Given the description of an element on the screen output the (x, y) to click on. 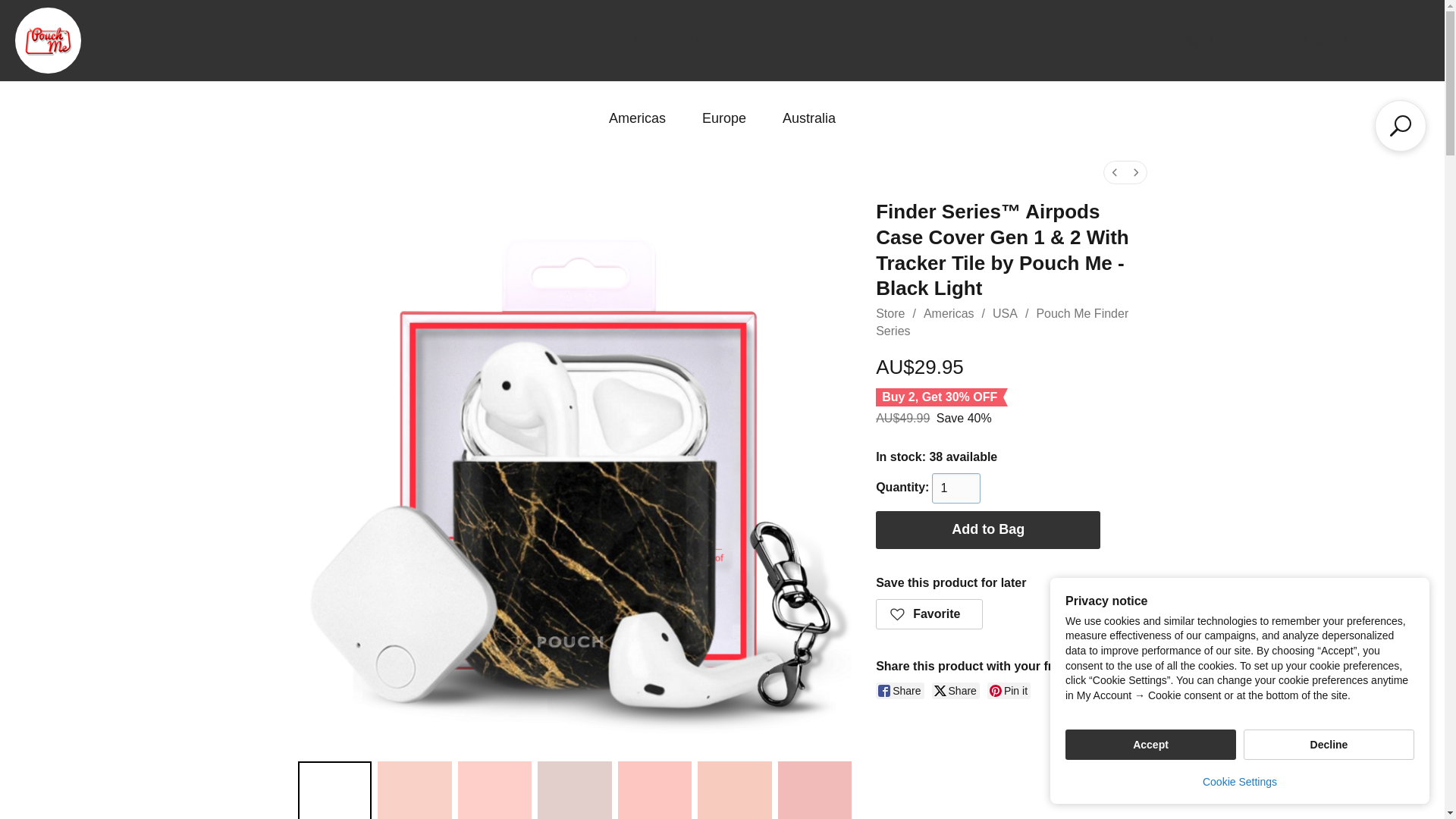
Contact us (771, 39)
Store (646, 39)
Australia (809, 118)
About (702, 39)
Store (890, 313)
Pouch Me Finder Series (1002, 321)
Americas (636, 118)
USA (1004, 313)
Americas (948, 313)
Europe (723, 118)
Add to Bag (988, 529)
